Given the description of an element on the screen output the (x, y) to click on. 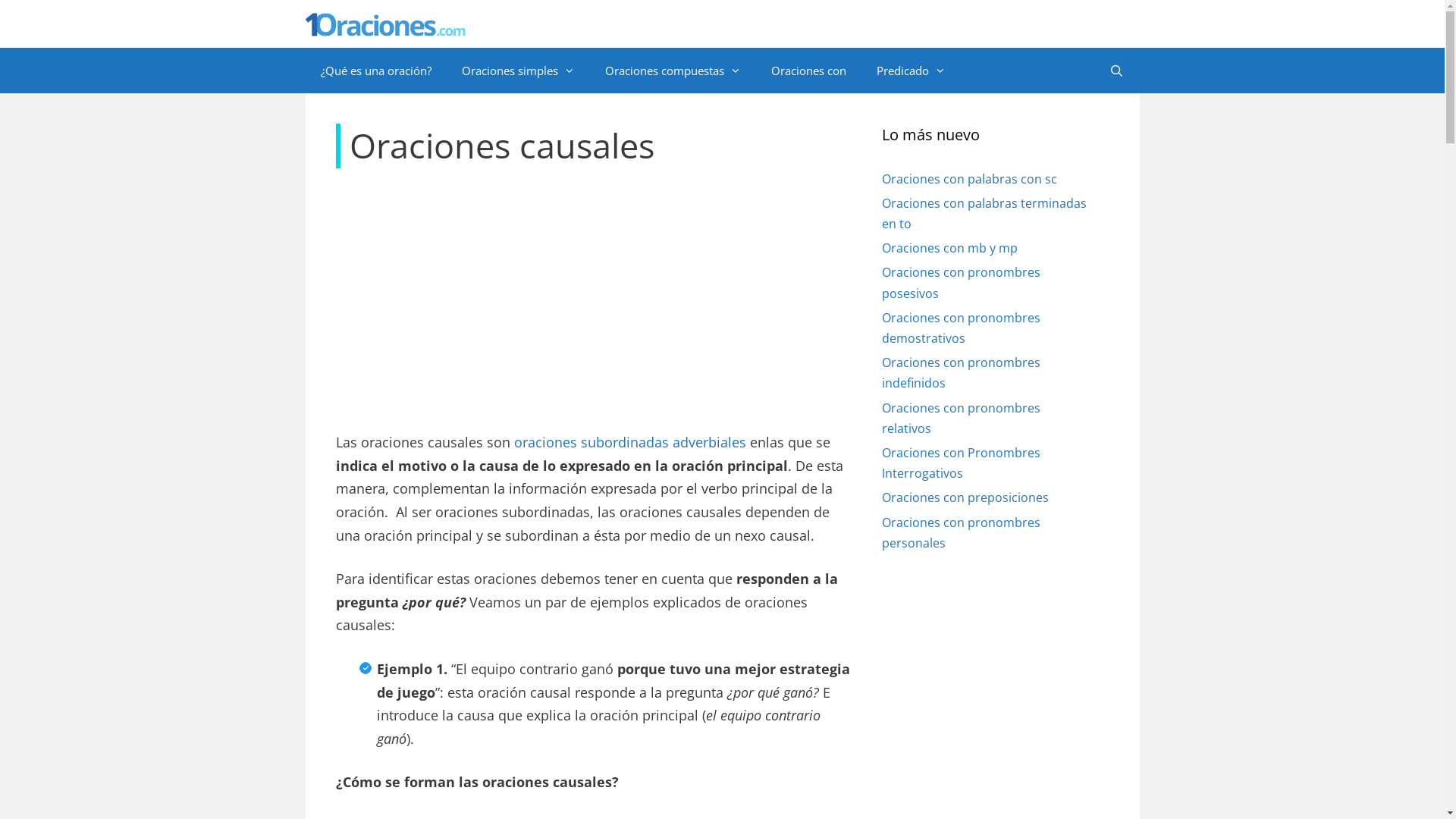
Oraciones con palabras terminadas en to Element type: text (983, 213)
Advertisement Element type: hover (592, 297)
Oraciones compuestas Element type: text (672, 70)
Oraciones con pronombres demostrativos Element type: text (960, 327)
Oraciones con preposiciones Element type: text (964, 497)
Oraciones con pronombres relativos Element type: text (960, 417)
Oraciones con pronombres posesivos Element type: text (960, 282)
Oraciones con Pronombres Interrogativos Element type: text (960, 462)
Oraciones con mb y mp Element type: text (948, 247)
Oraciones con pronombres personales Element type: text (960, 532)
Oraciones con pronombres indefinidos Element type: text (960, 372)
Predicado Element type: text (910, 70)
Oraciones con palabras con sc Element type: text (968, 178)
oraciones subordinadas adverbiales Element type: text (630, 442)
Oraciones con Element type: text (807, 70)
Oraciones simples Element type: text (517, 70)
